Given the description of an element on the screen output the (x, y) to click on. 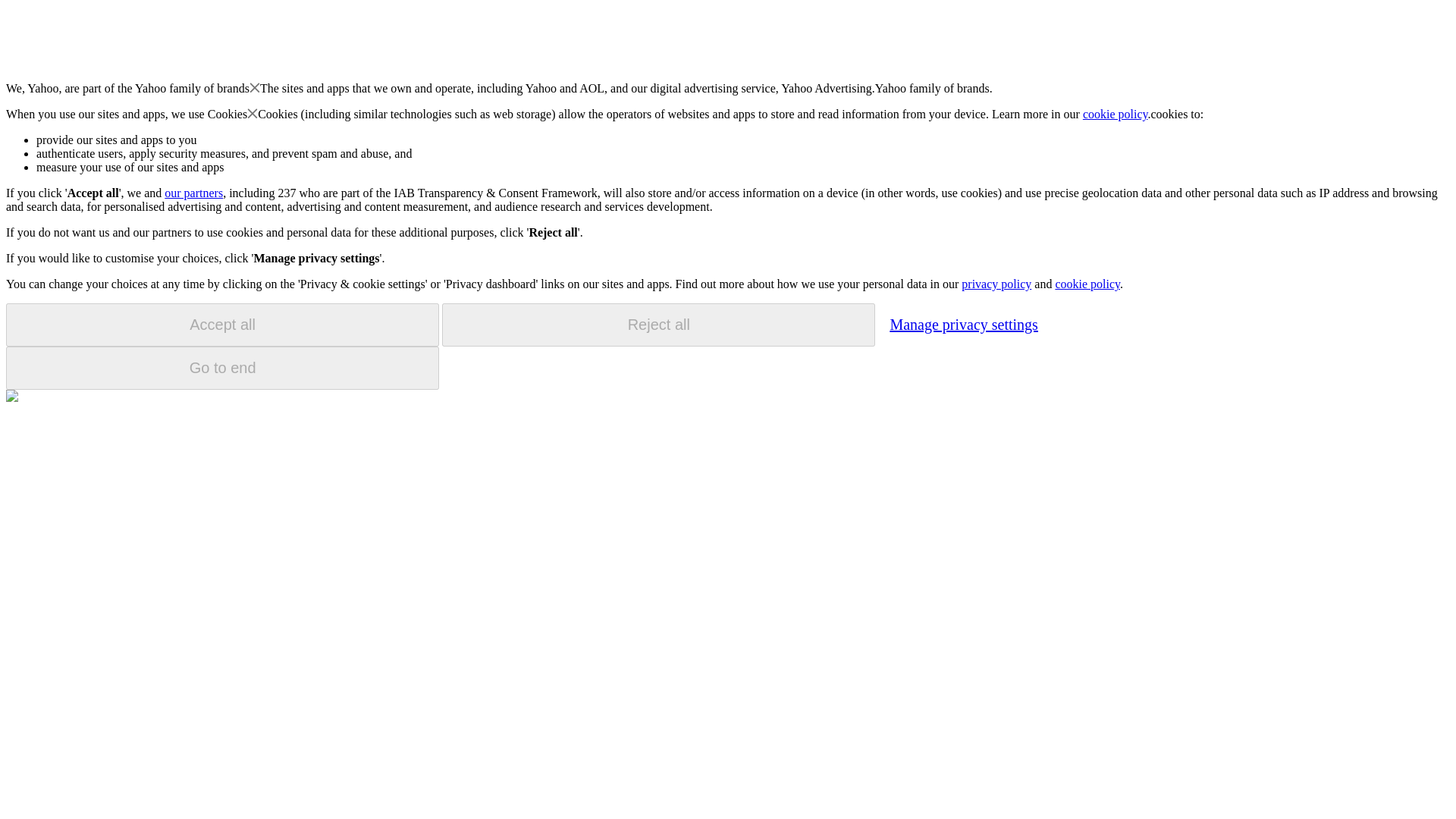
Accept all (222, 324)
cookie policy (1086, 283)
our partners (193, 192)
Manage privacy settings (963, 323)
privacy policy (995, 283)
cookie policy (1115, 113)
Go to end (222, 367)
Reject all (658, 324)
